Given the description of an element on the screen output the (x, y) to click on. 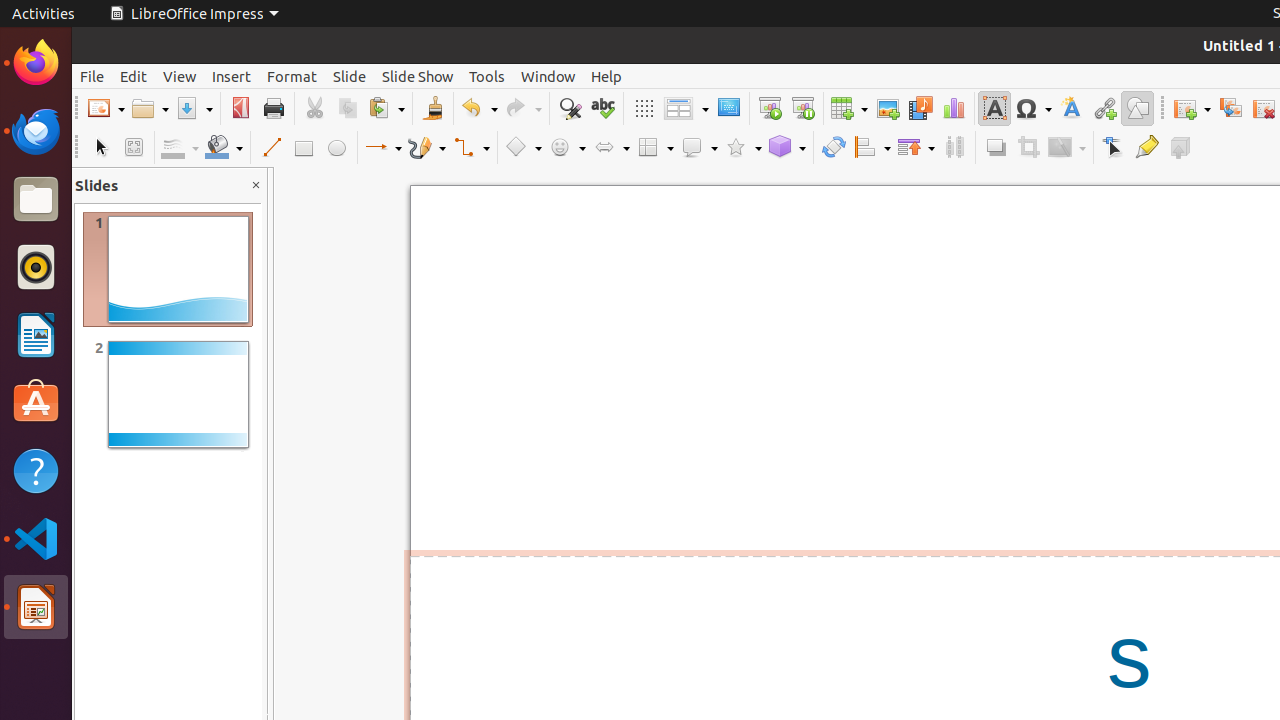
Close Pane Element type: push-button (255, 185)
Fontwork Style Element type: toggle-button (1071, 108)
Line Element type: push-button (270, 147)
Toggle Extrusion Element type: push-button (1179, 147)
Undo Element type: push-button (479, 108)
